Given the description of an element on the screen output the (x, y) to click on. 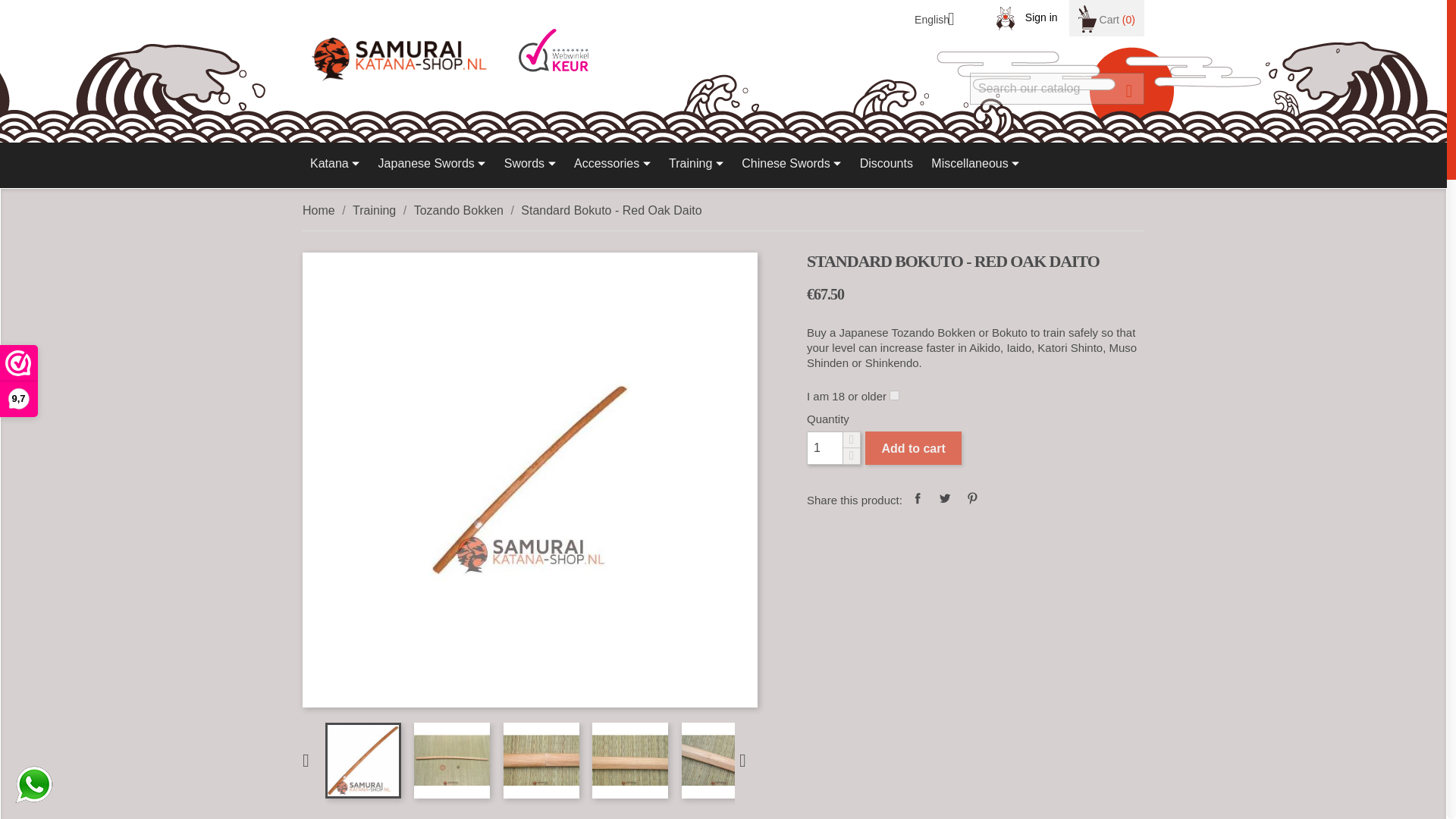
Katana (334, 164)
Swords (529, 164)
1 (824, 448)
Share (917, 497)
Standard Bokuto - Red Oak Daito (541, 760)
Log in to your customer account (1026, 17)
Standard Bokuto - Red Oak Daito (719, 760)
Standard Bokuto - Red Oak Daito (451, 760)
Sign in (1026, 17)
Pinterest (971, 497)
Japanese Swords (432, 164)
Standard Bokuto - Red Oak Daito (630, 760)
on (894, 395)
Standard Bokuto - Red Oak Daito (362, 760)
